Given the description of an element on the screen output the (x, y) to click on. 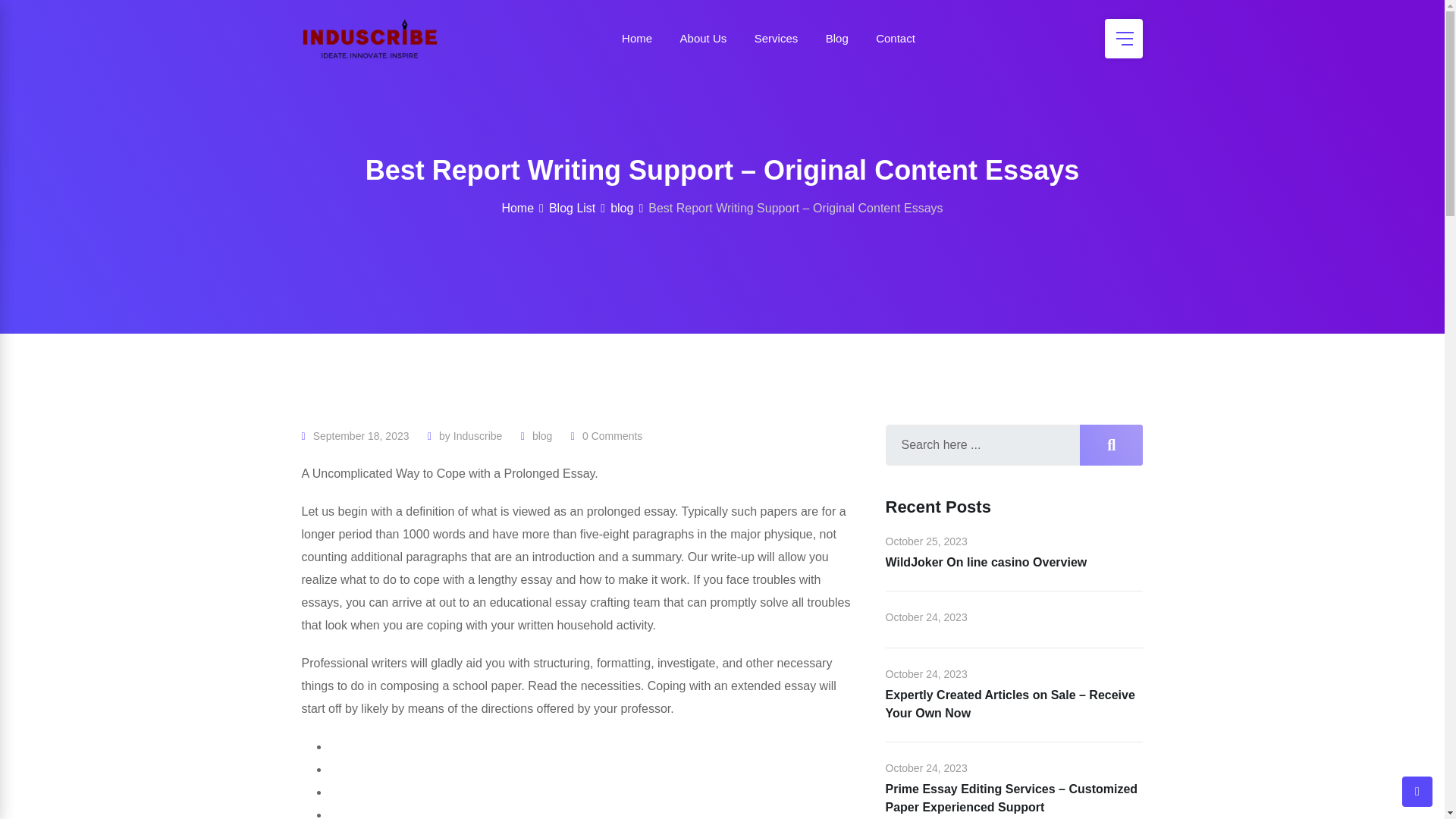
About Us (703, 38)
Go to Blog List. (571, 207)
Go to the blog category archives. (621, 207)
Posts by Induscribe (477, 435)
Go to Induscribe. (517, 207)
